Given the description of an element on the screen output the (x, y) to click on. 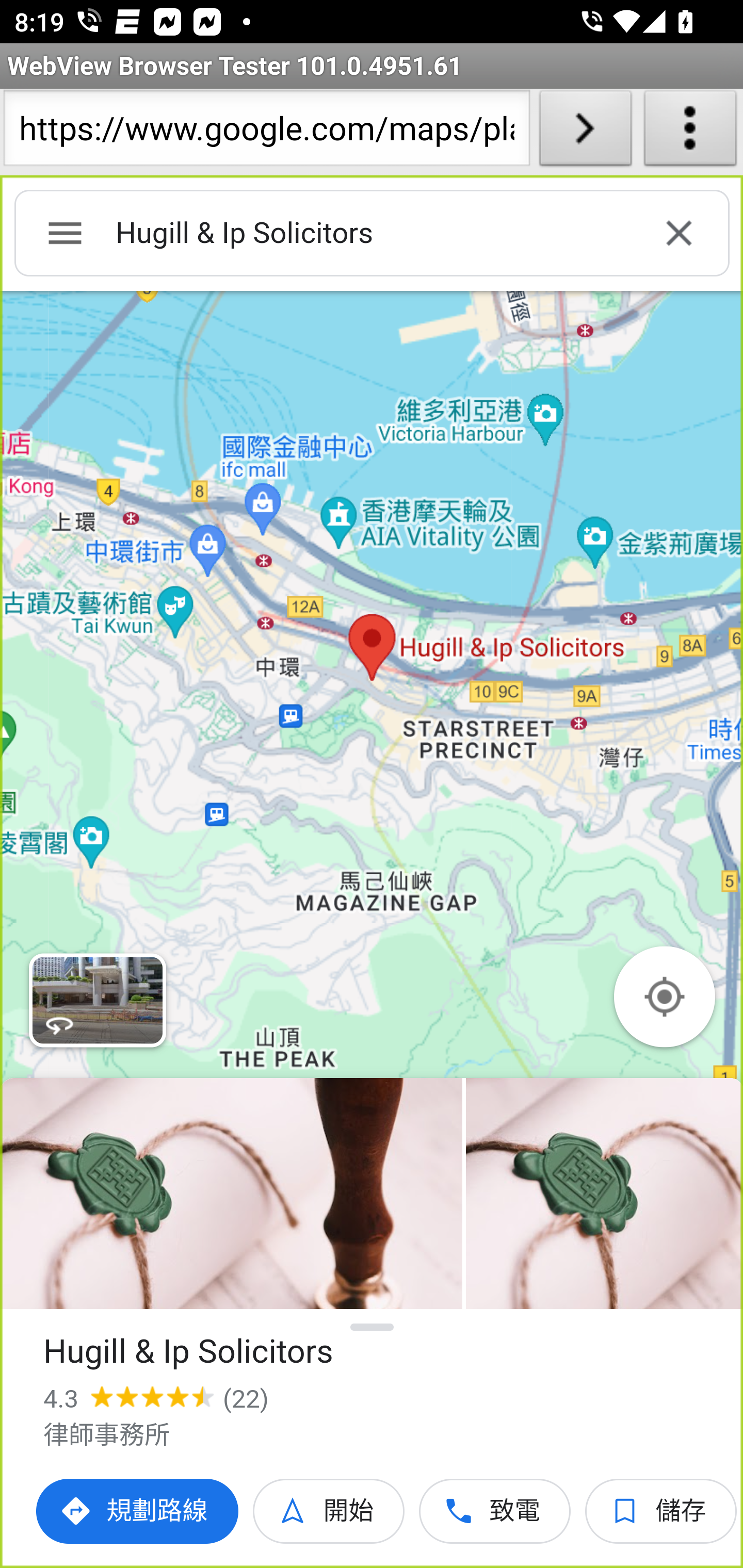
Load URL (585, 132)
About WebView (690, 132)
第 1 張相片 (共 10 張) (231, 1193)
第 2 張相片 (共 10 張) (604, 1193)
顯示詳細資料 (372, 1327)
前往Hugill & Ip Solicitors的路線 (137, 1511)
開始 (329, 1511)
致電「Hugill & Ip Solicitors」  致電 (495, 1511)
將「Hugill & Ip Solicitors」儲存至清單中 (661, 1511)
